Given the description of an element on the screen output the (x, y) to click on. 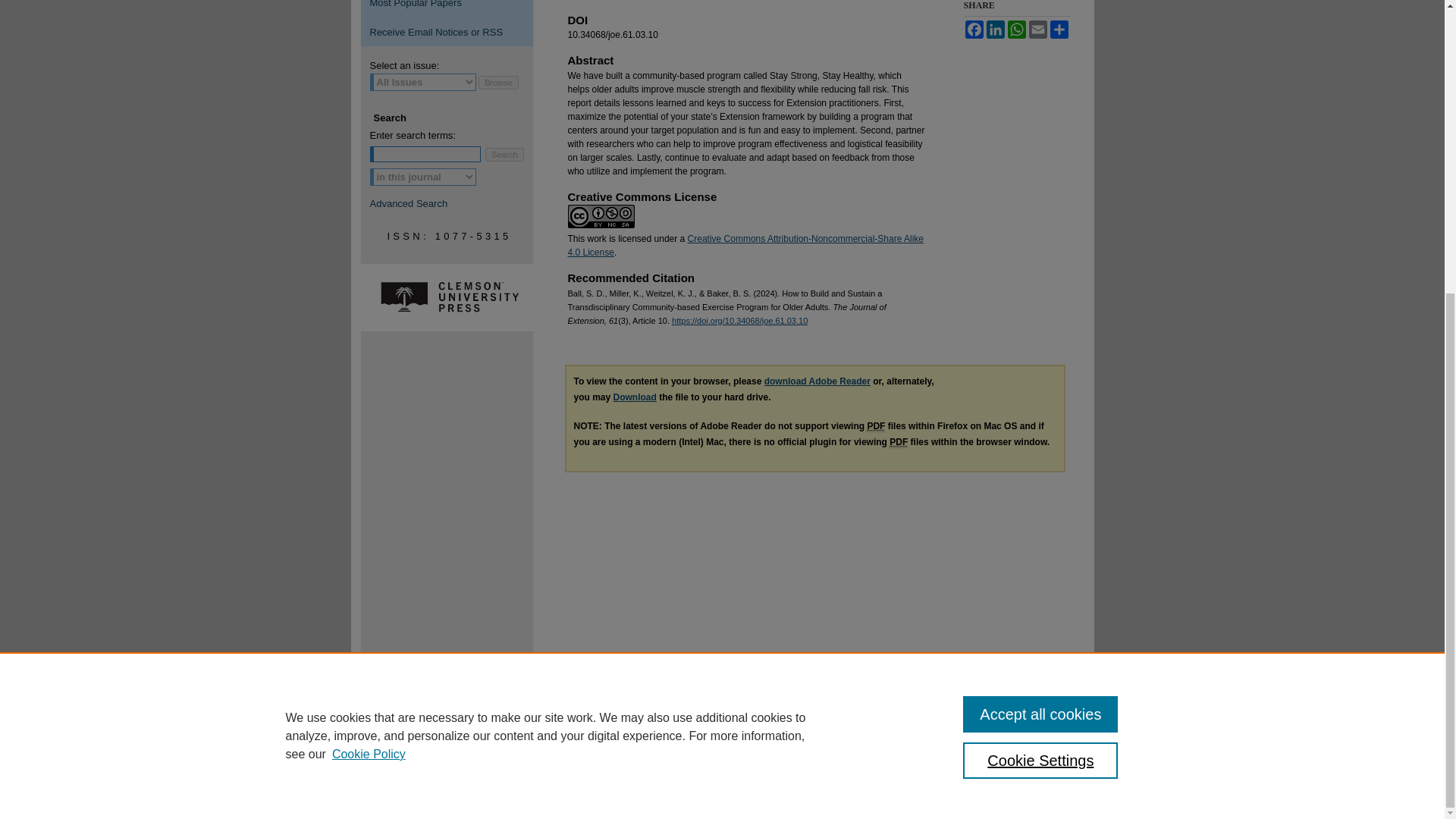
Search (504, 153)
Search (504, 153)
Facebook (973, 29)
LinkedIn (995, 29)
Browse (498, 82)
Browse (498, 82)
